Given the description of an element on the screen output the (x, y) to click on. 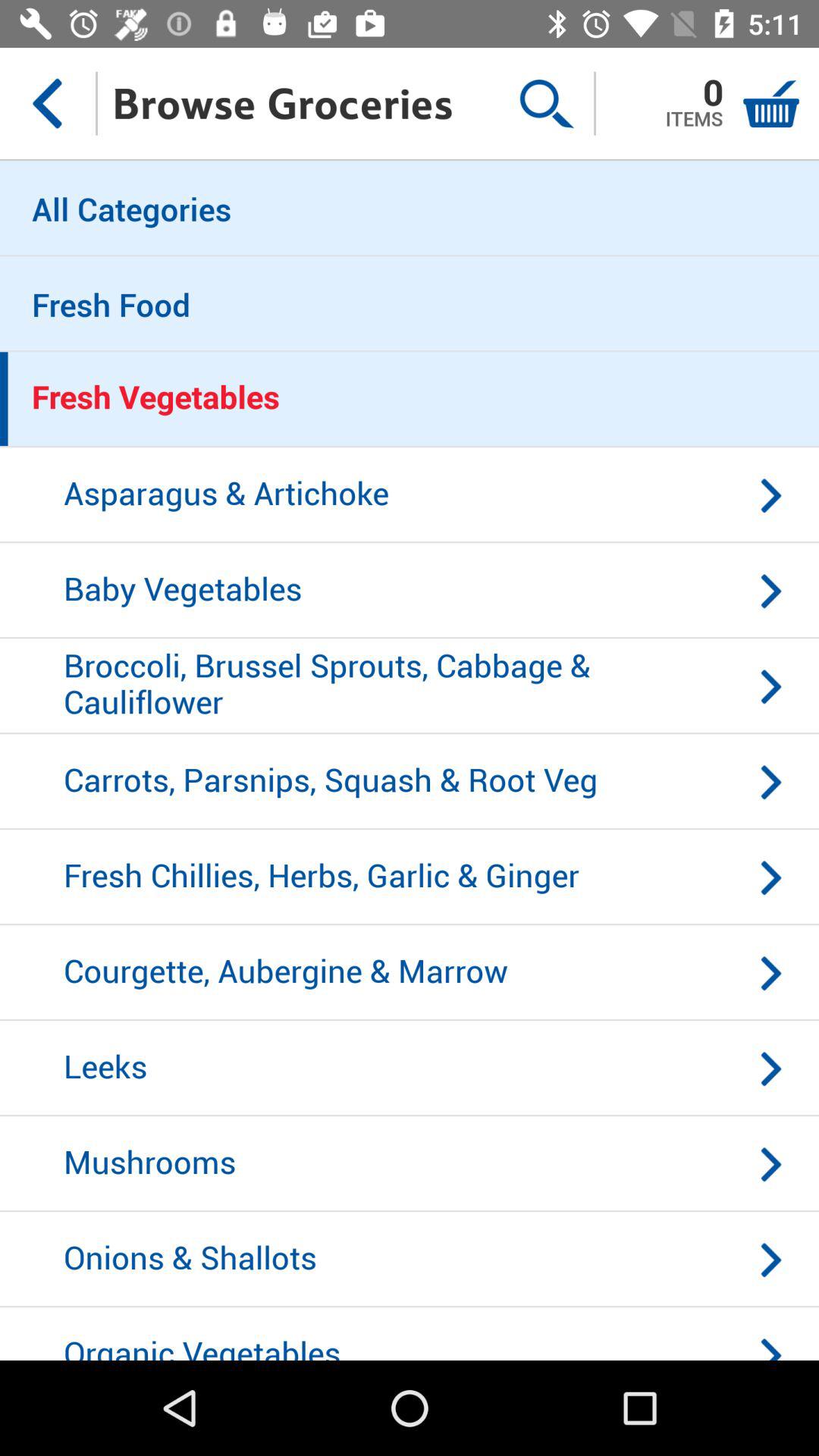
tap icon above the organic vegetables item (409, 1259)
